Given the description of an element on the screen output the (x, y) to click on. 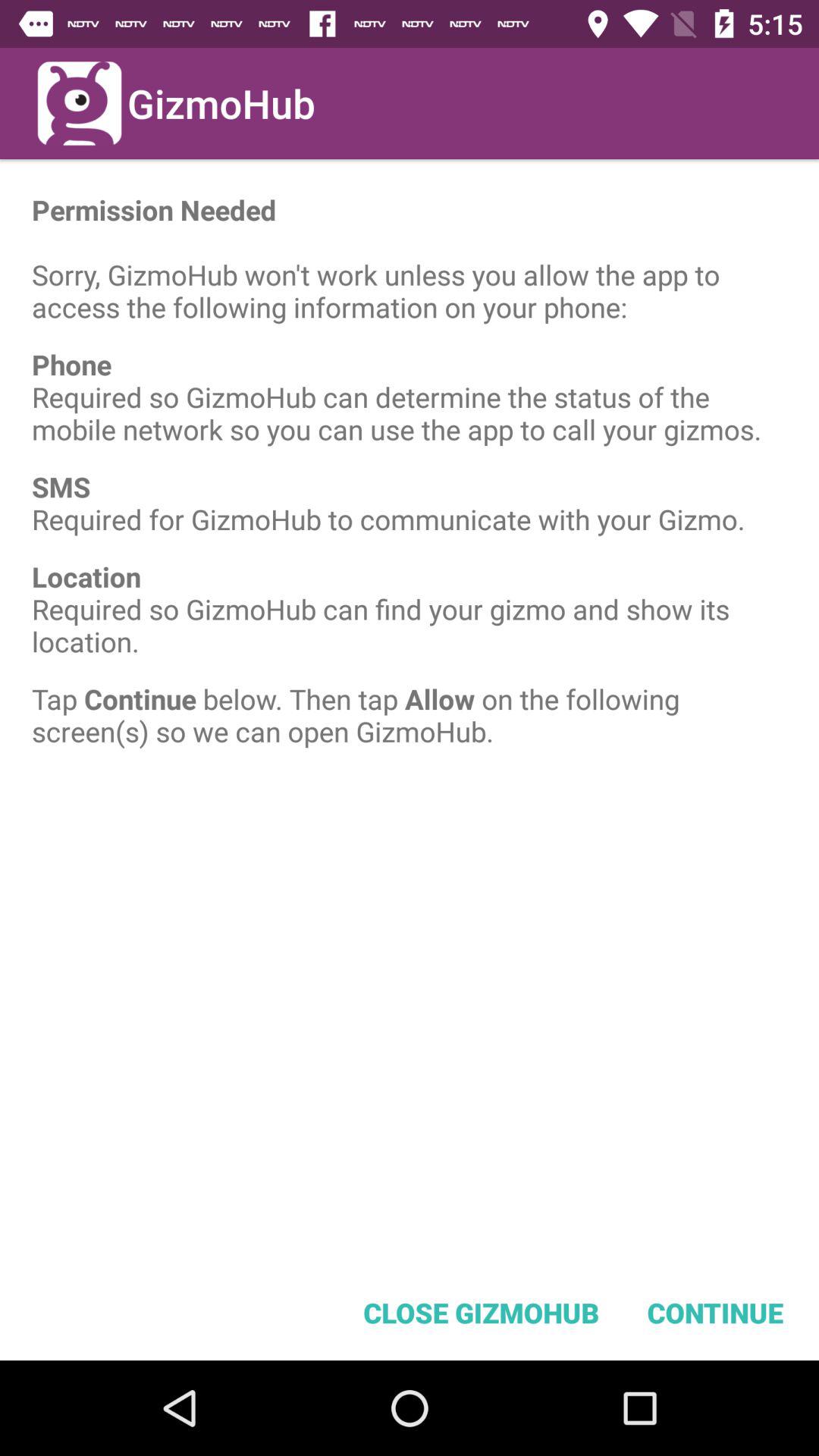
select close gizmohub item (481, 1312)
